Given the description of an element on the screen output the (x, y) to click on. 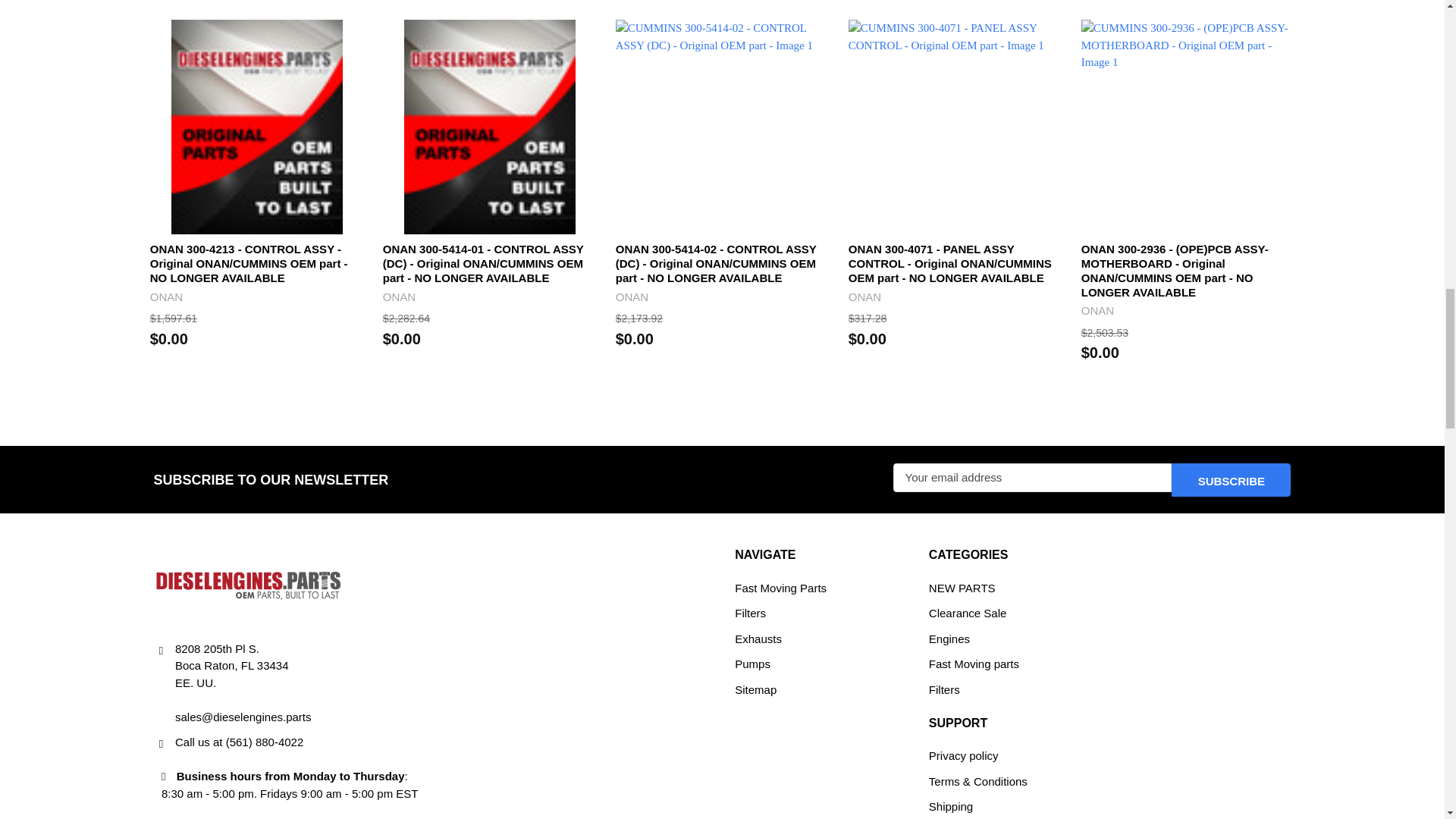
Subscribe (1231, 479)
DIESELENGINES PARTS (247, 585)
